Given the description of an element on the screen output the (x, y) to click on. 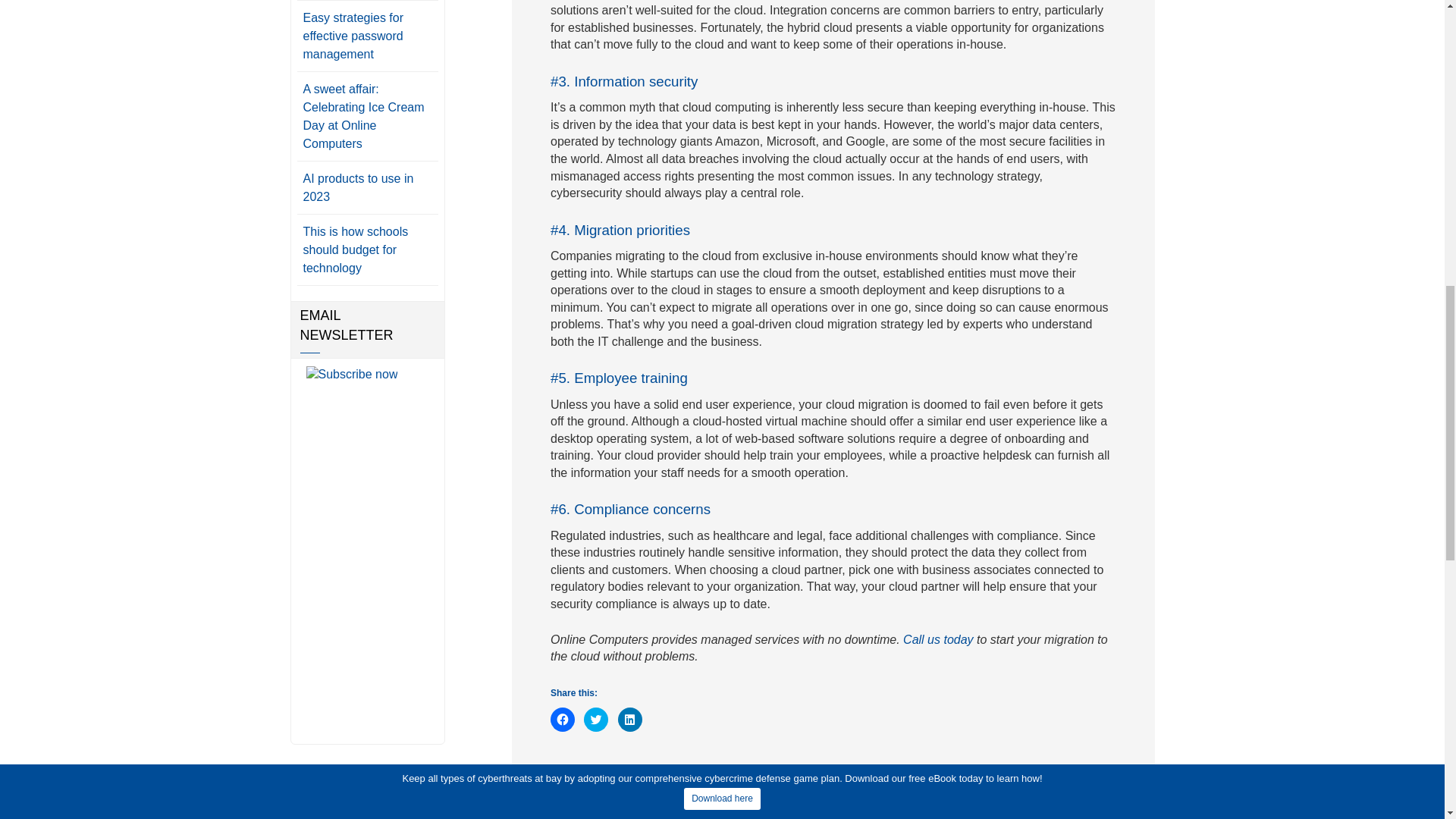
Click to share on Facebook (562, 719)
Click to share on LinkedIn (629, 719)
Click to share on Twitter (595, 719)
